Given the description of an element on the screen output the (x, y) to click on. 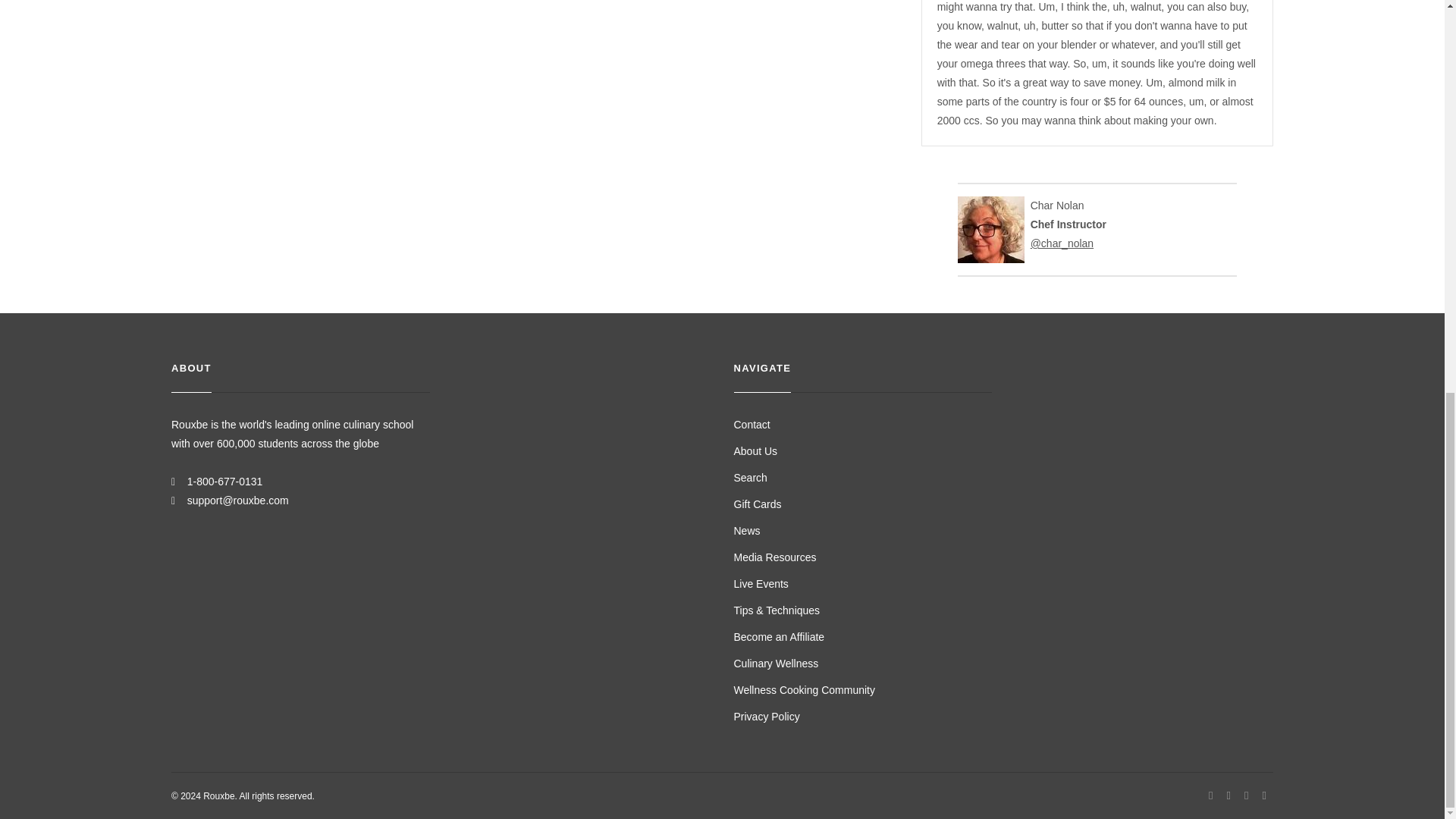
Wellness Cooking Community (804, 689)
Privacy Policy (766, 716)
Live Events (761, 583)
Gift Cards (757, 503)
Search (750, 477)
Culinary Wellness (775, 663)
Become an Affiliate (779, 636)
News (746, 530)
Media Resources (774, 557)
Contact (751, 424)
About Us (755, 451)
